Given the description of an element on the screen output the (x, y) to click on. 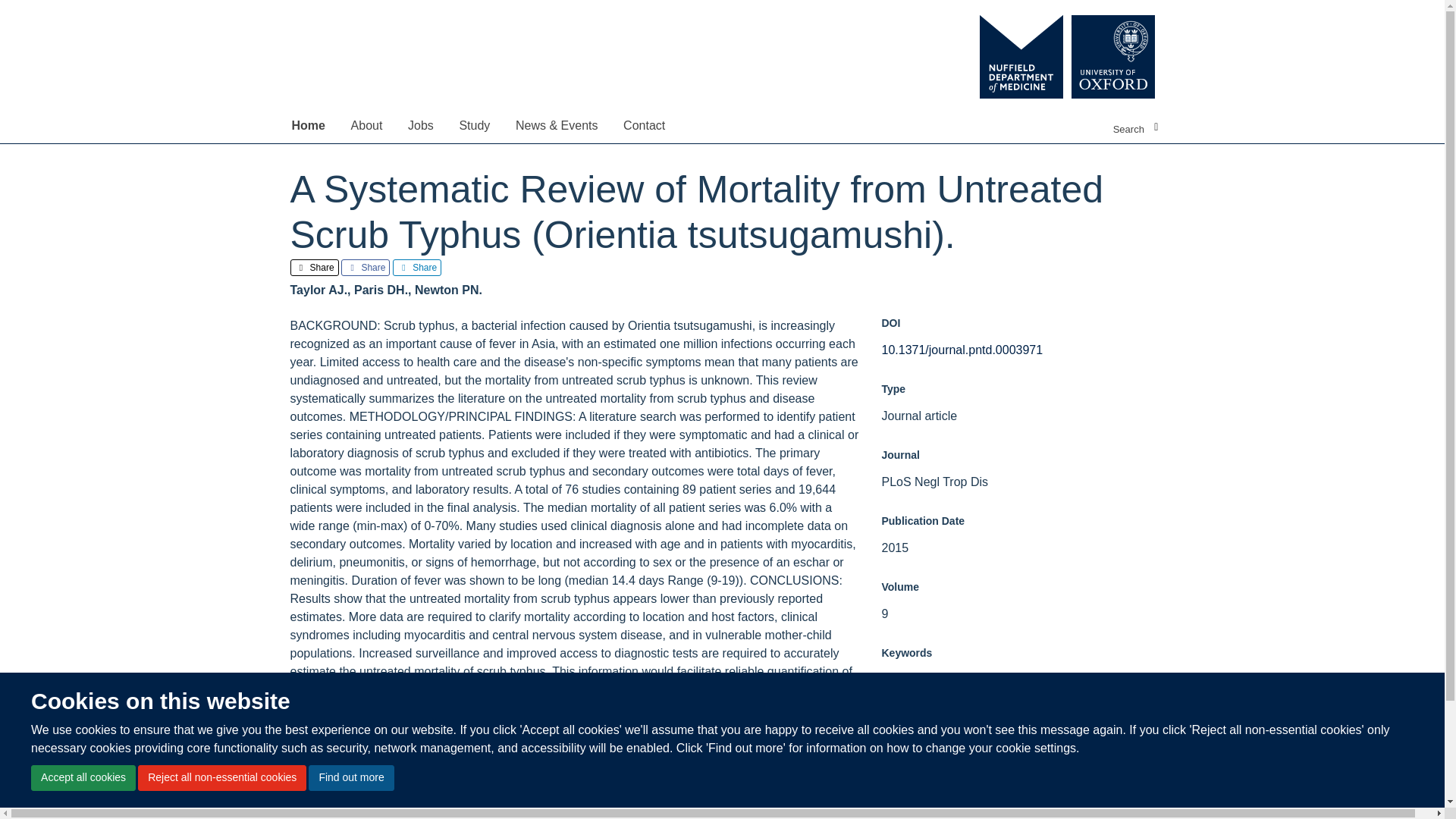
Reject all non-essential cookies (221, 777)
Find out more (350, 777)
Accept all cookies (82, 777)
